Given the description of an element on the screen output the (x, y) to click on. 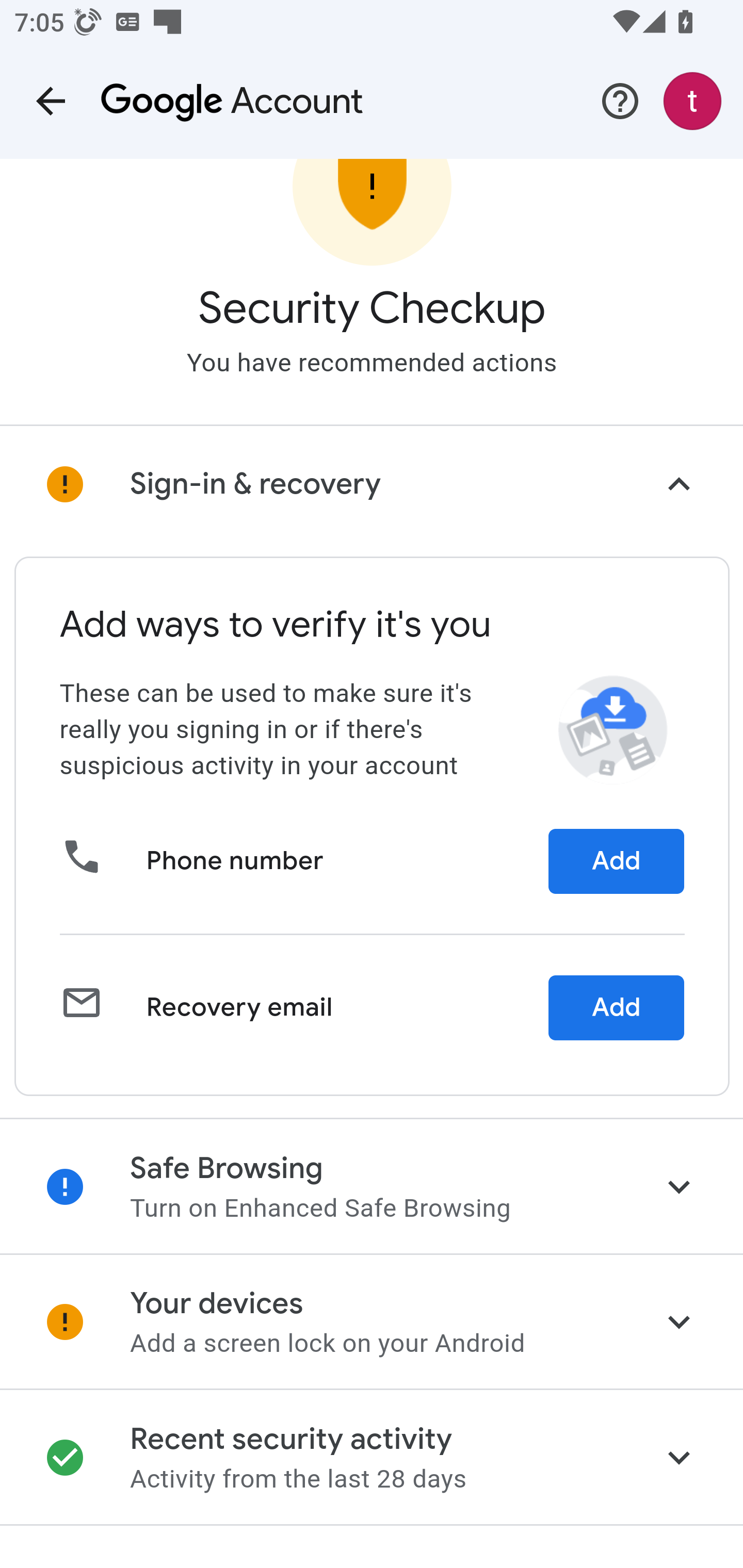
Navigate up (50, 101)
Help & feedback (619, 101)
Issues found in sign-in & recovery (371, 485)
Add your phone number (616, 863)
Add a recovery email (616, 1008)
Safe Browsing Turn on Enhanced Safe Browsing (371, 1187)
